Given the description of an element on the screen output the (x, y) to click on. 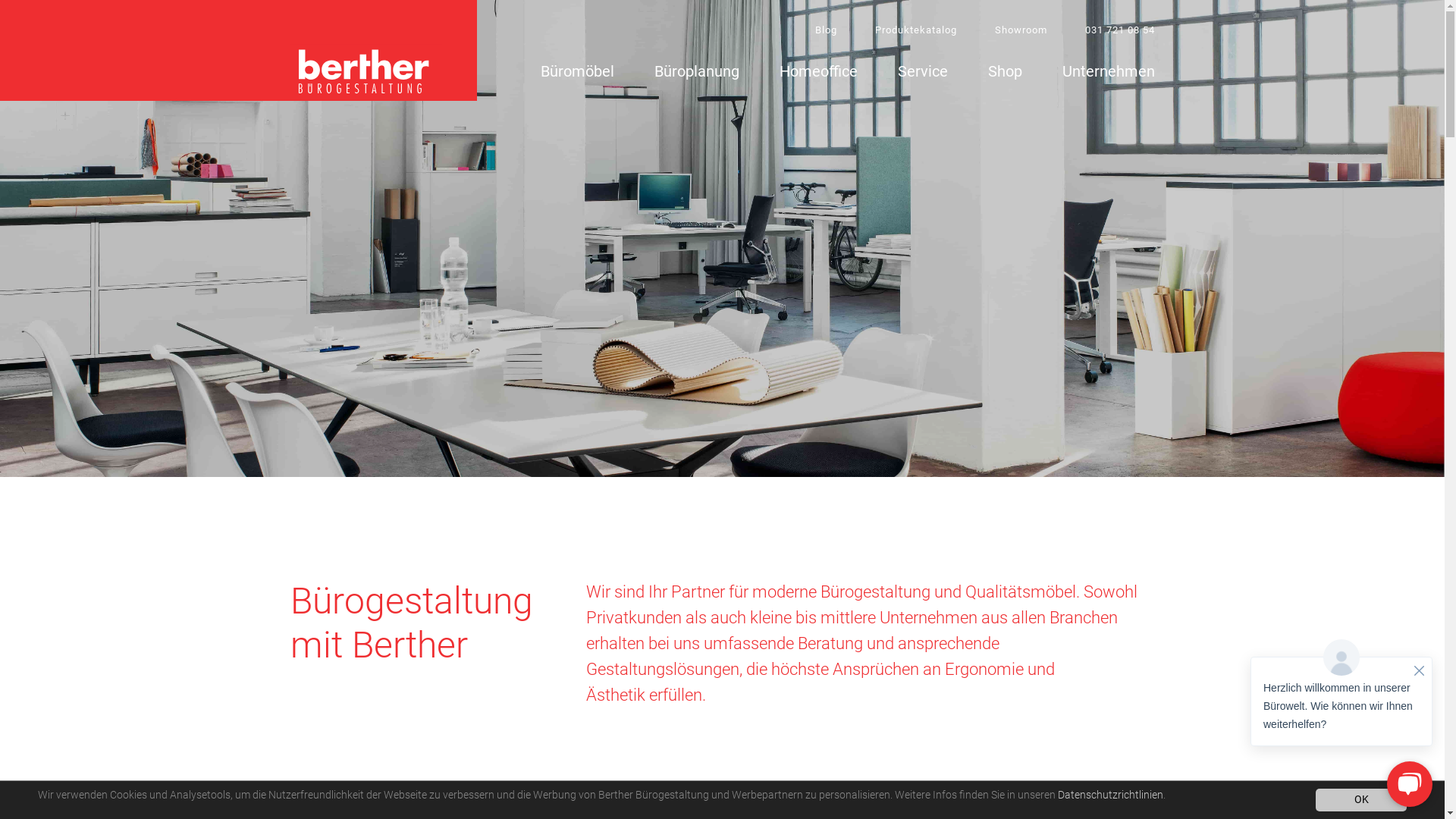
Shop Element type: text (1004, 73)
Produktekatalog Element type: text (916, 29)
OK Element type: text (1360, 799)
Service Element type: text (922, 73)
Homeoffice Element type: text (818, 73)
Datenschutzrichtlinien Element type: text (1109, 794)
031 721 08 54 Element type: text (1119, 29)
Showroom Element type: text (1020, 29)
Blog Element type: text (825, 29)
Unternehmen Element type: text (1107, 73)
